Given the description of an element on the screen output the (x, y) to click on. 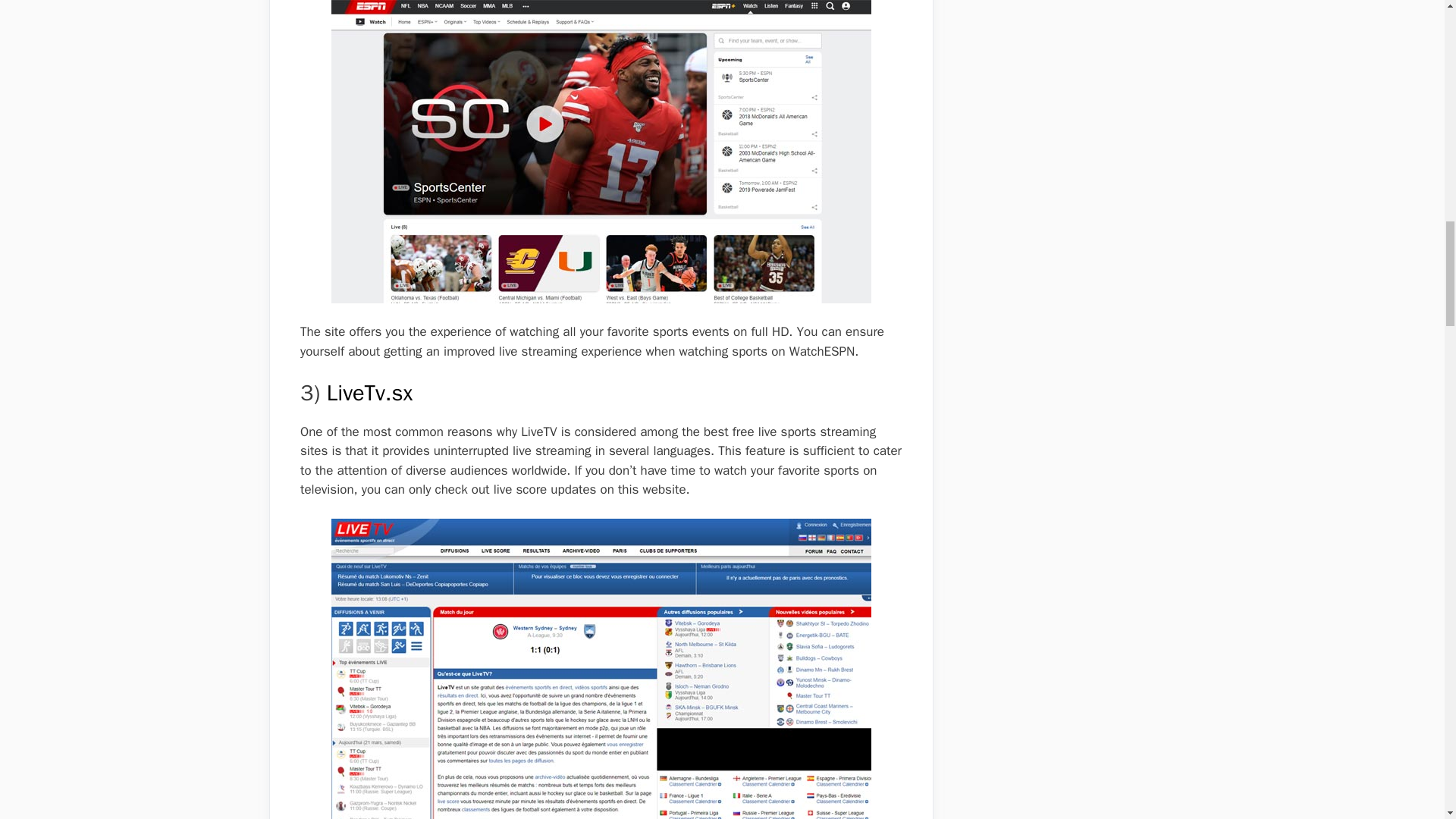
LiveTv.sx (369, 393)
